Given the description of an element on the screen output the (x, y) to click on. 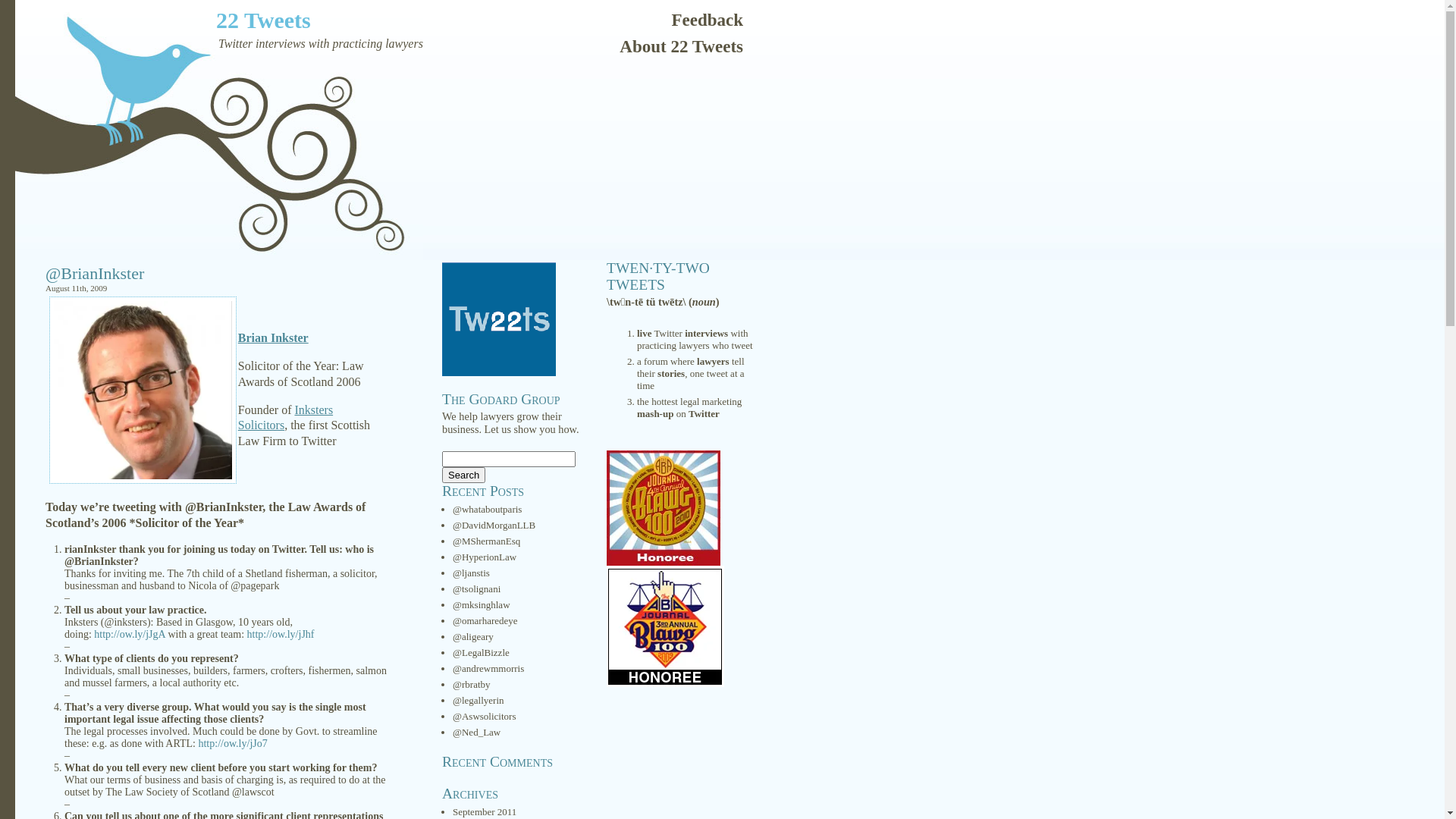
@andrewmmorris Element type: text (488, 668)
@MShermanEsq Element type: text (486, 540)
Feedback Element type: text (707, 16)
@Aswsolicitors Element type: text (483, 715)
Search Element type: text (463, 475)
Brian Inkster Element type: text (273, 337)
@rbratby Element type: text (471, 684)
@Ned_Law Element type: text (476, 731)
22 Tweets Element type: text (263, 19)
Inksters Solicitors Element type: text (285, 417)
@HyperionLaw Element type: text (484, 556)
About 22 Tweets Element type: text (681, 41)
@mksinghlaw Element type: text (481, 604)
September 2011 Element type: text (484, 811)
@LegalBizzle Element type: text (480, 652)
@ljanstis Element type: text (470, 572)
@whataboutparis Element type: text (486, 508)
@aligeary Element type: text (472, 636)
@BrianInkster Element type: text (94, 272)
http://ow.ly/jJo7 Element type: text (231, 743)
@omarharedeye Element type: text (484, 620)
@legallyerin Element type: text (478, 700)
@tsolignani Element type: text (476, 588)
@DavidMorganLLB Element type: text (493, 524)
http://ow.ly/jJhf Element type: text (280, 634)
http://ow.ly/jJgA Element type: text (129, 634)
